Given the description of an element on the screen output the (x, y) to click on. 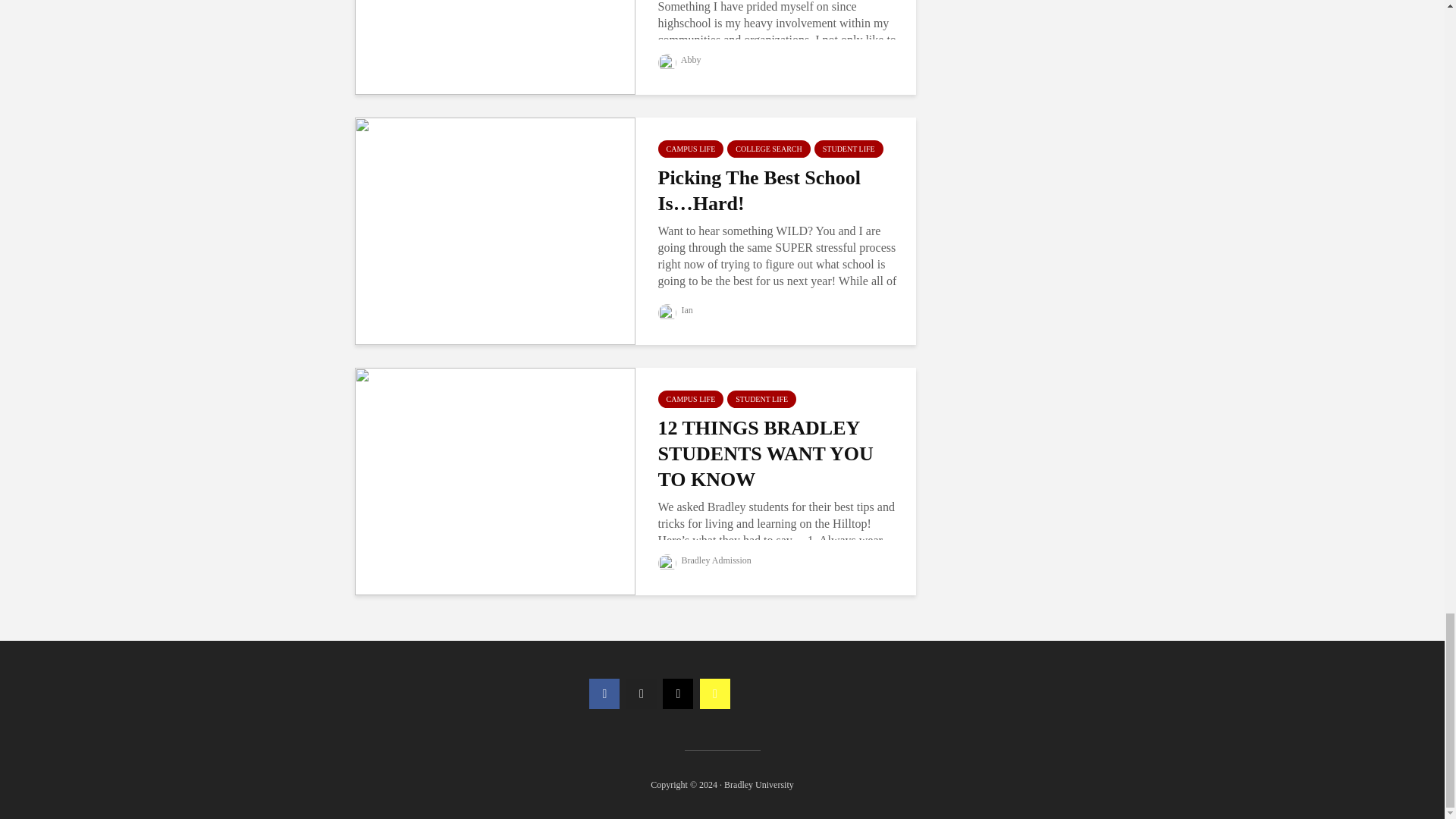
Snapchat (715, 693)
12 THINGS BRADLEY STUDENTS WANT YOU TO KNOW (494, 480)
Facebook (604, 693)
Instagram (677, 693)
